Given the description of an element on the screen output the (x, y) to click on. 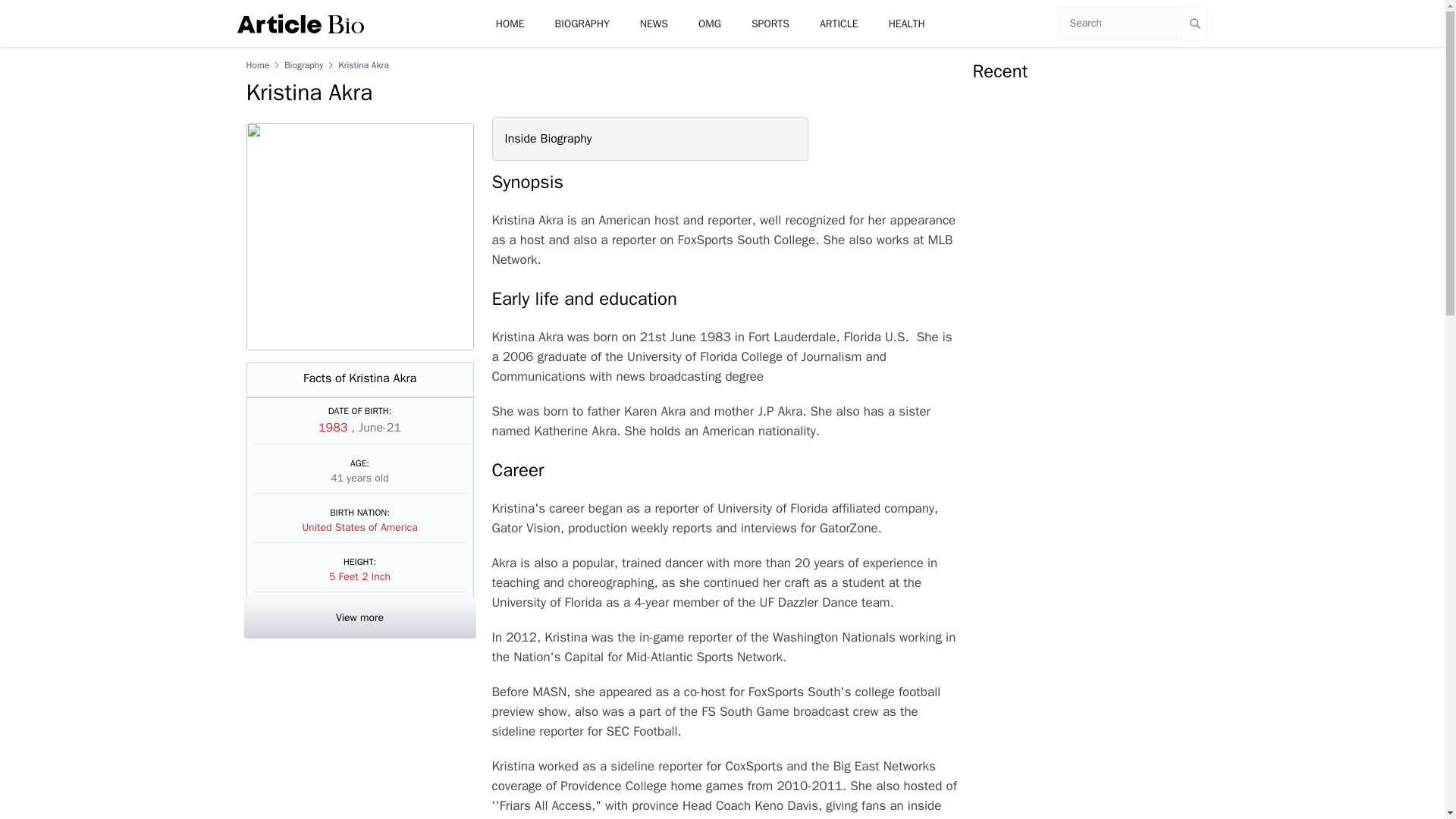
SPORTS (770, 23)
NEWS (654, 23)
June-21 (379, 427)
5 Feet 2 Inch (359, 576)
BIOGRAPHY (582, 23)
United States of America (359, 526)
OMG (709, 23)
HEALTH (906, 23)
1983 (334, 427)
ARTICLE (839, 23)
